Given the description of an element on the screen output the (x, y) to click on. 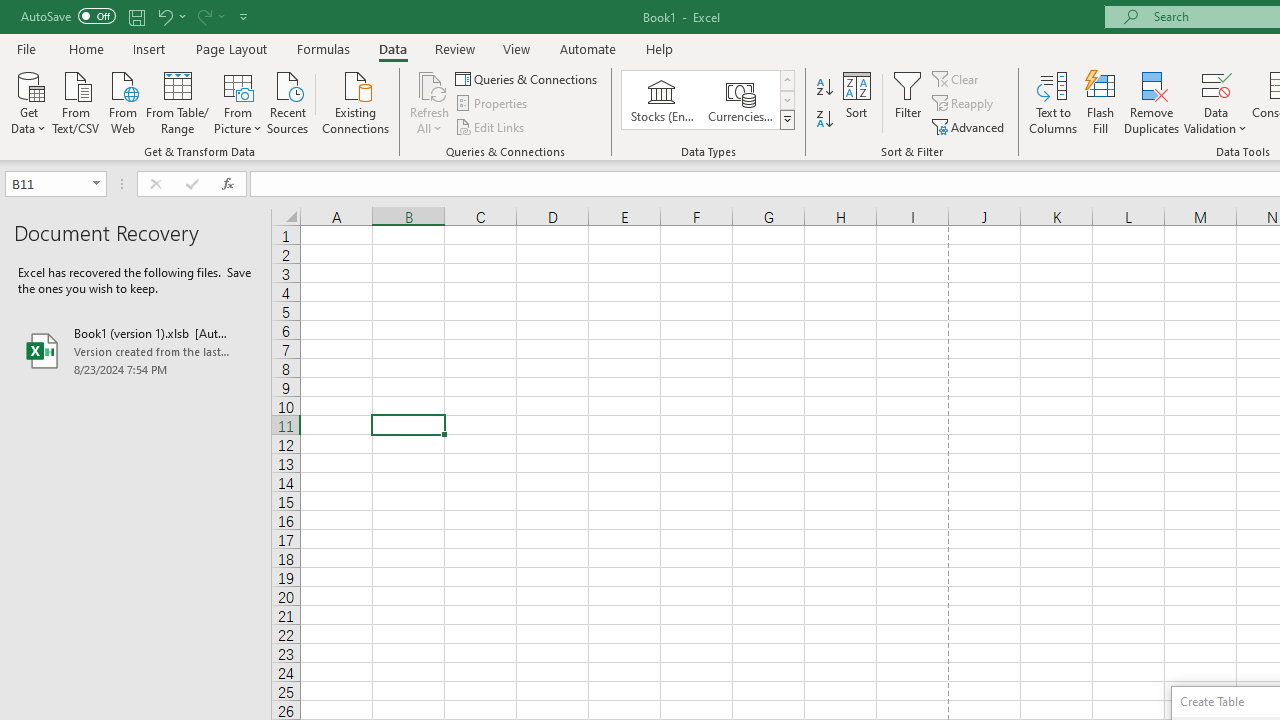
Formulas (323, 48)
Sort A to Z (824, 87)
Data Validation... (1215, 102)
Queries & Connections (527, 78)
More Options (1215, 121)
System (10, 11)
Row Down (786, 100)
Page Layout (230, 48)
System (10, 11)
Name Box (46, 183)
Existing Connections (355, 101)
Clear (957, 78)
Data Validation... (1215, 84)
Flash Fill (1101, 102)
Review (454, 48)
